Given the description of an element on the screen output the (x, y) to click on. 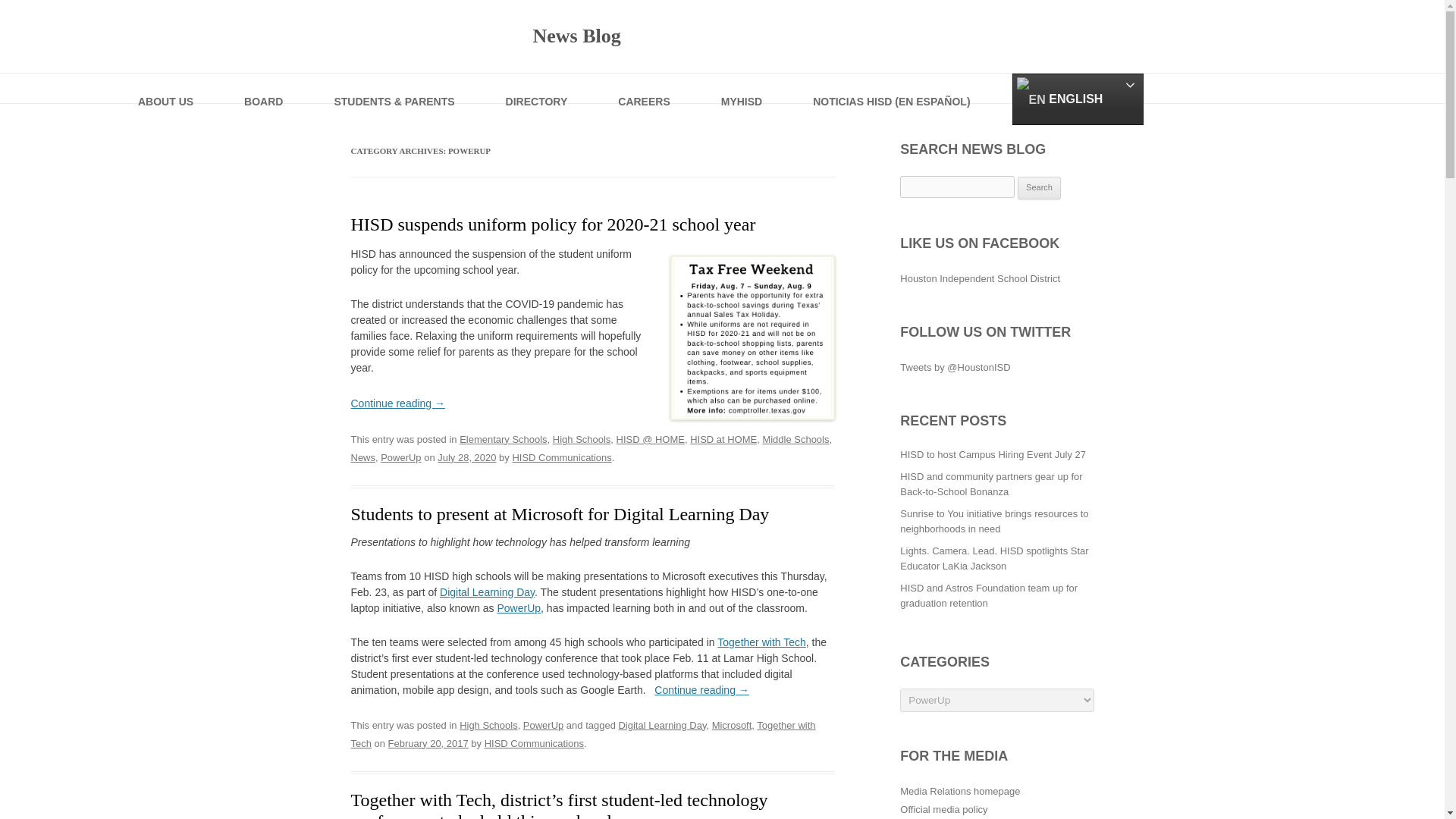
News Blog (485, 36)
Students to present at Microsoft for Digital Learning Day  (561, 514)
High Schools (582, 439)
HISD Communications (561, 457)
ENGLISH (1076, 99)
Together with Tech (761, 642)
BOARD (264, 88)
Digital Learning Day (486, 592)
PowerUp (519, 607)
CAREERS (644, 88)
HISD at HOME (723, 439)
HISD suspends uniform policy for 2020-21 school year (552, 224)
MYHISD (742, 88)
2:48 pm (428, 743)
